Given the description of an element on the screen output the (x, y) to click on. 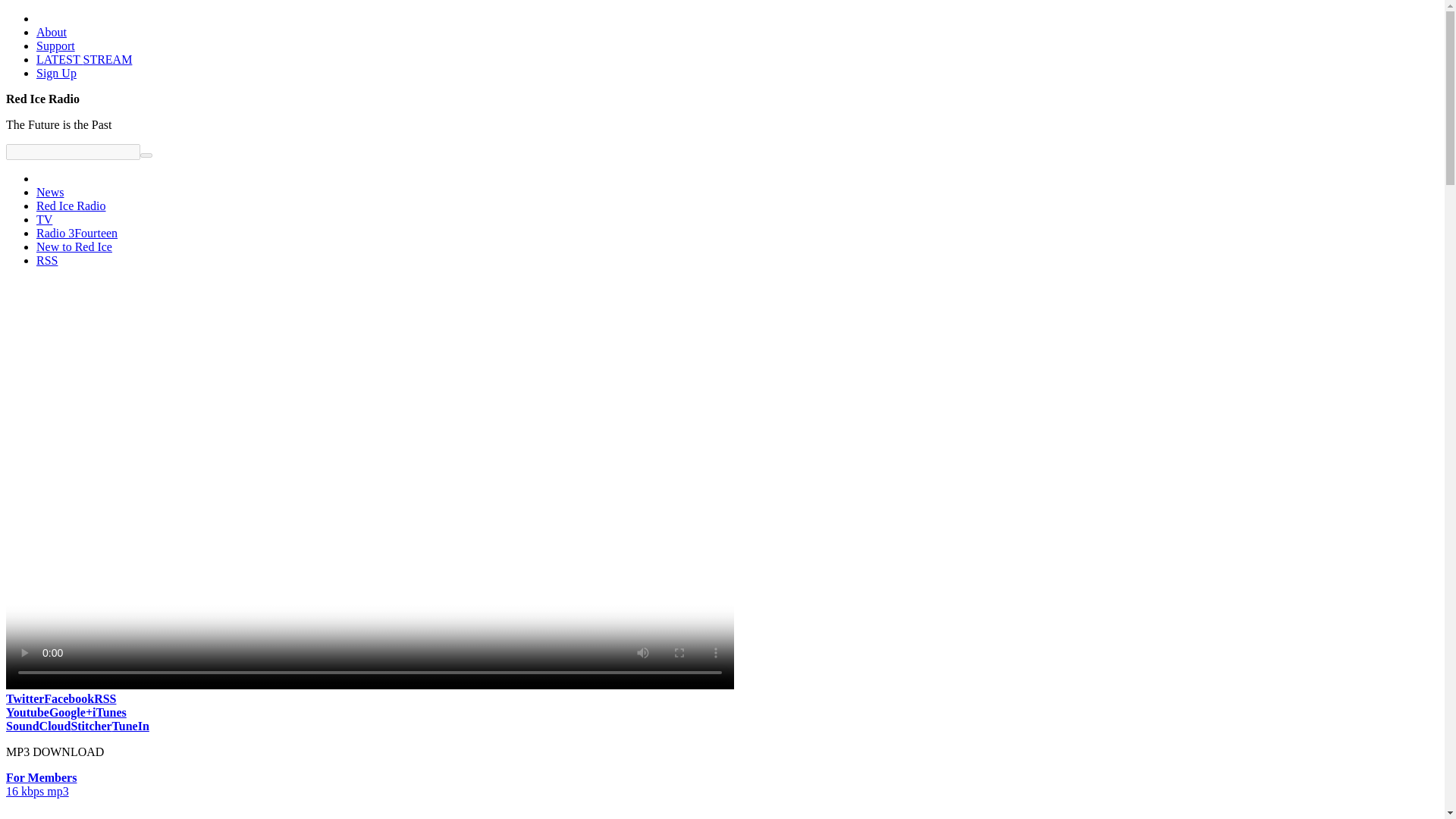
LATEST STREAM (84, 59)
Support (55, 45)
For Members (41, 777)
RSS (105, 698)
Facebook (68, 698)
Sign Up (56, 72)
TV (44, 219)
RSS (47, 259)
New to Red Ice (74, 246)
Twitter (24, 698)
About (51, 31)
Red Ice Radio (71, 205)
TuneIn (130, 725)
Youtube (27, 712)
News (50, 192)
